Given the description of an element on the screen output the (x, y) to click on. 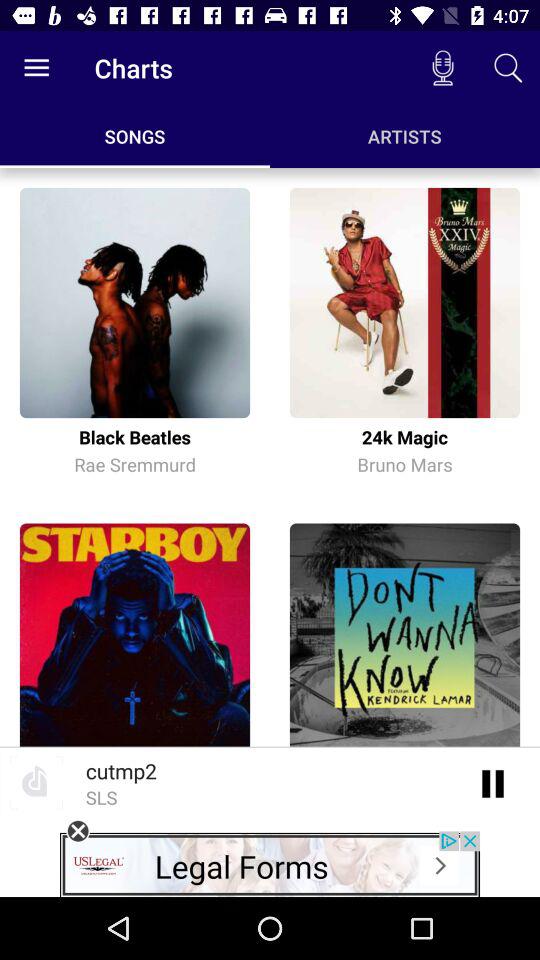
close button (78, 831)
